Given the description of an element on the screen output the (x, y) to click on. 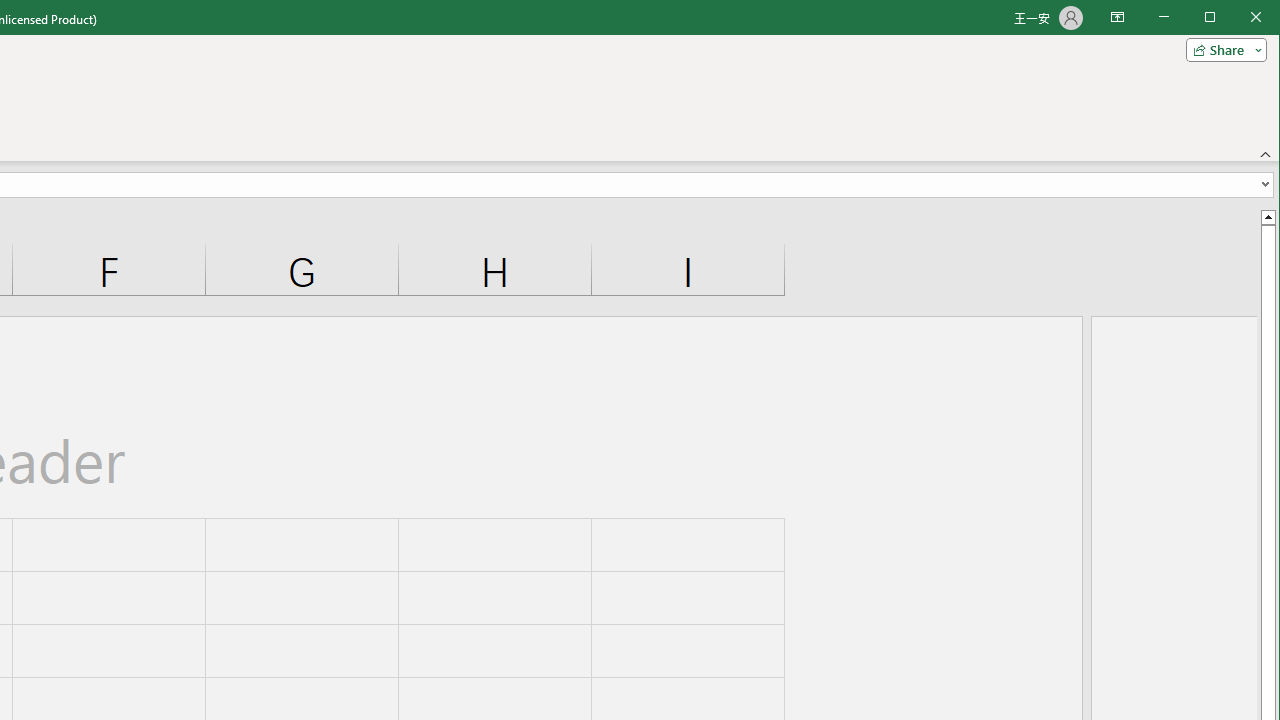
Minimize (1216, 18)
Ribbon Display Options (1117, 17)
Collapse the Ribbon (1266, 154)
Line up (1268, 216)
Share (1222, 49)
Maximize (1238, 18)
